Given the description of an element on the screen output the (x, y) to click on. 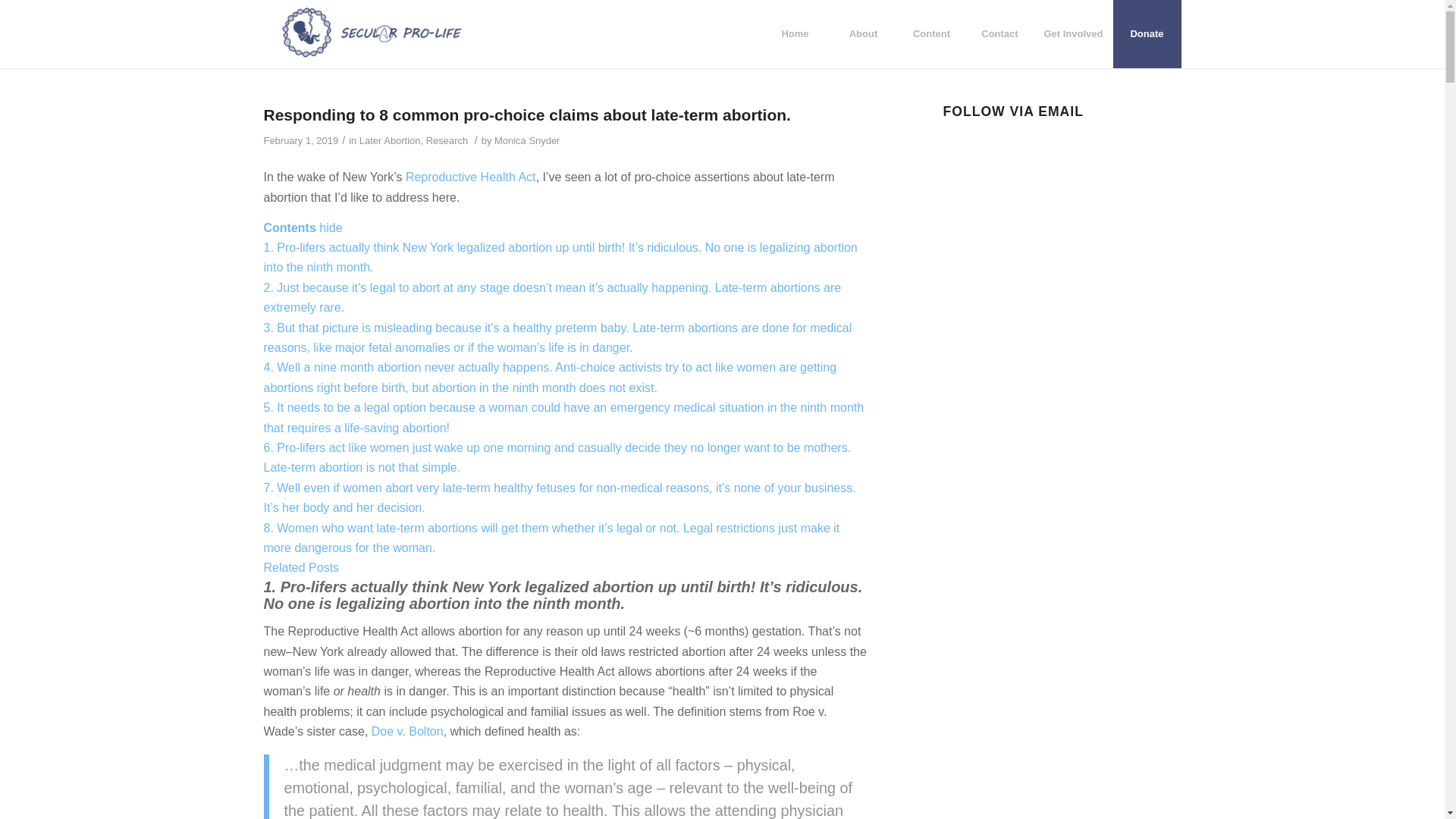
About (862, 33)
Home (794, 33)
Content (930, 33)
Contact (999, 33)
SecularProlife2 (371, 33)
Posts by Monica Snyder (527, 140)
